Given the description of an element on the screen output the (x, y) to click on. 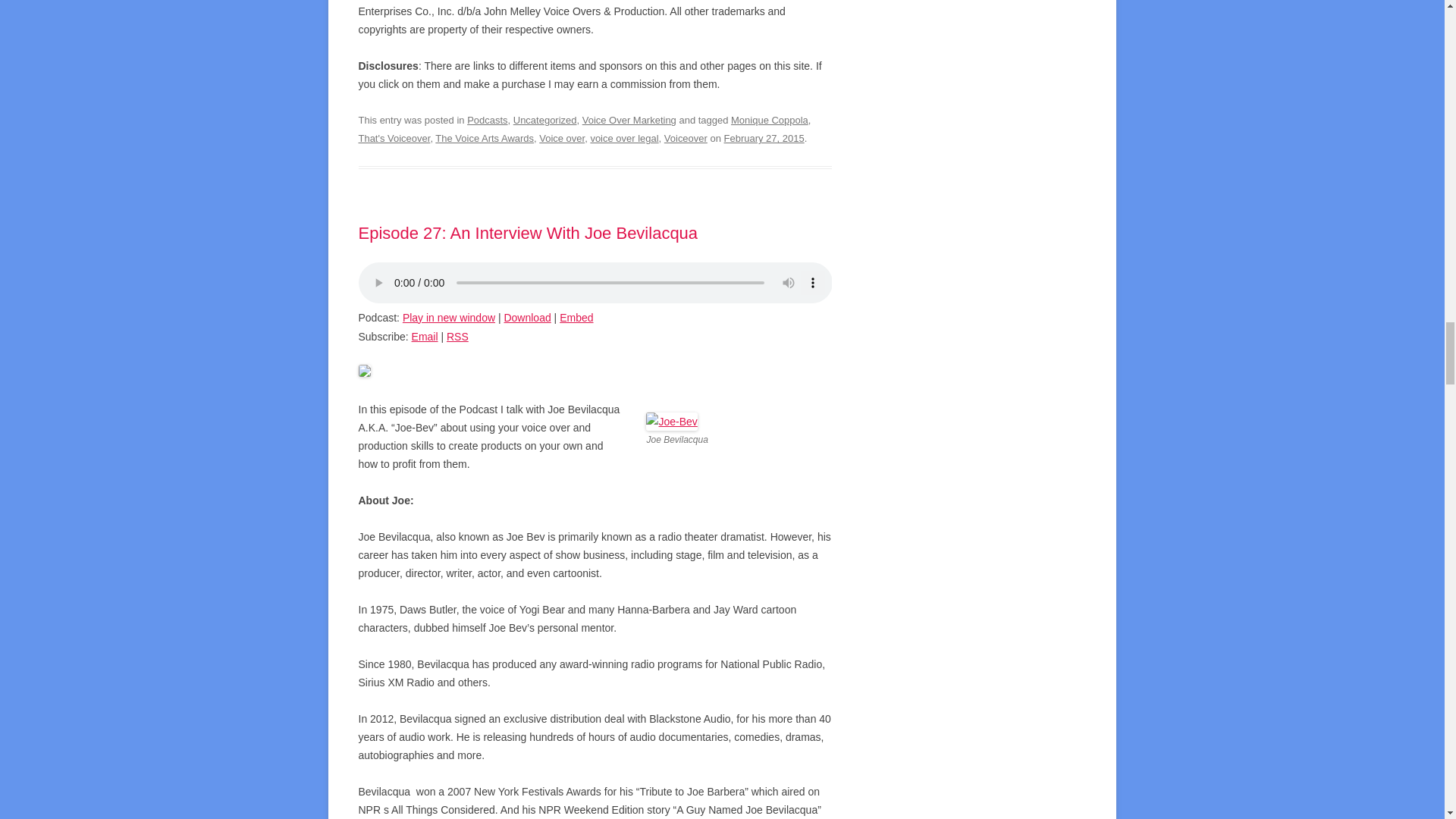
Podcasts (486, 120)
Uncategorized (544, 120)
